Given the description of an element on the screen output the (x, y) to click on. 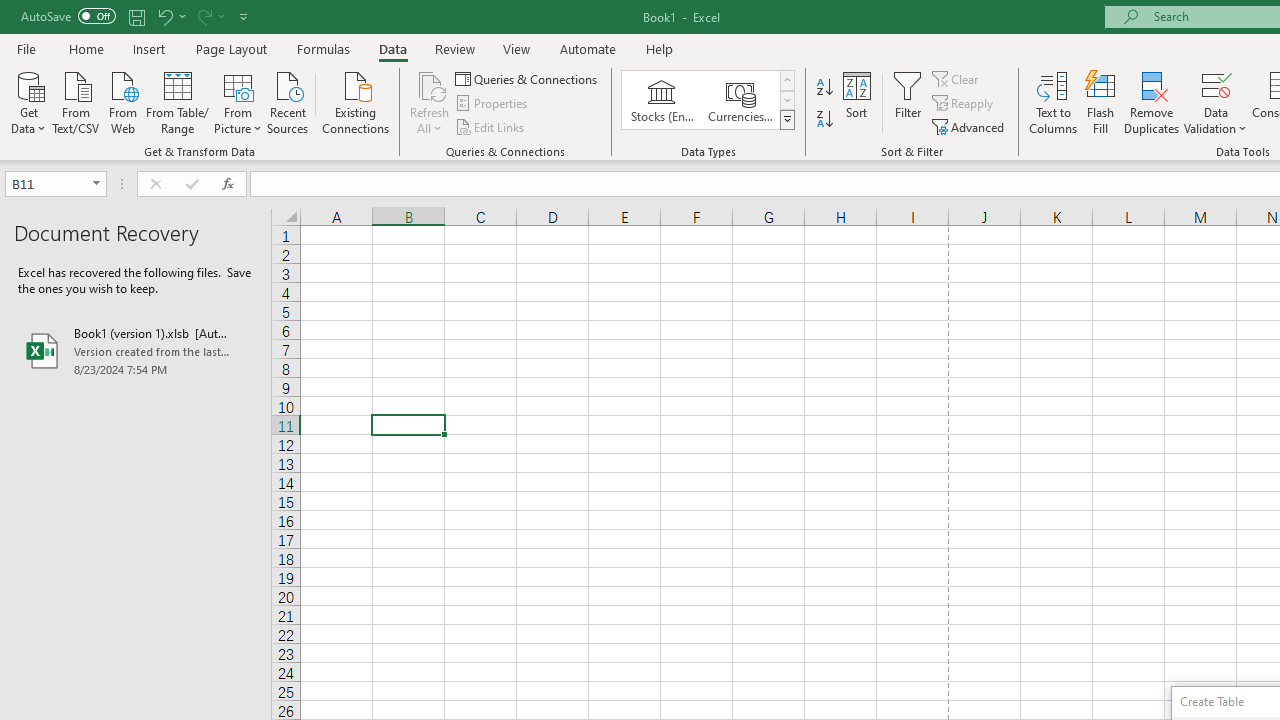
Row Down (786, 100)
Advanced... (970, 126)
Open (96, 183)
Sort... (856, 102)
Data Types (786, 120)
Book1 (version 1).xlsb  [AutoRecovered] (136, 350)
Formulas (323, 48)
AutoSave (68, 16)
Properties (492, 103)
